Given the description of an element on the screen output the (x, y) to click on. 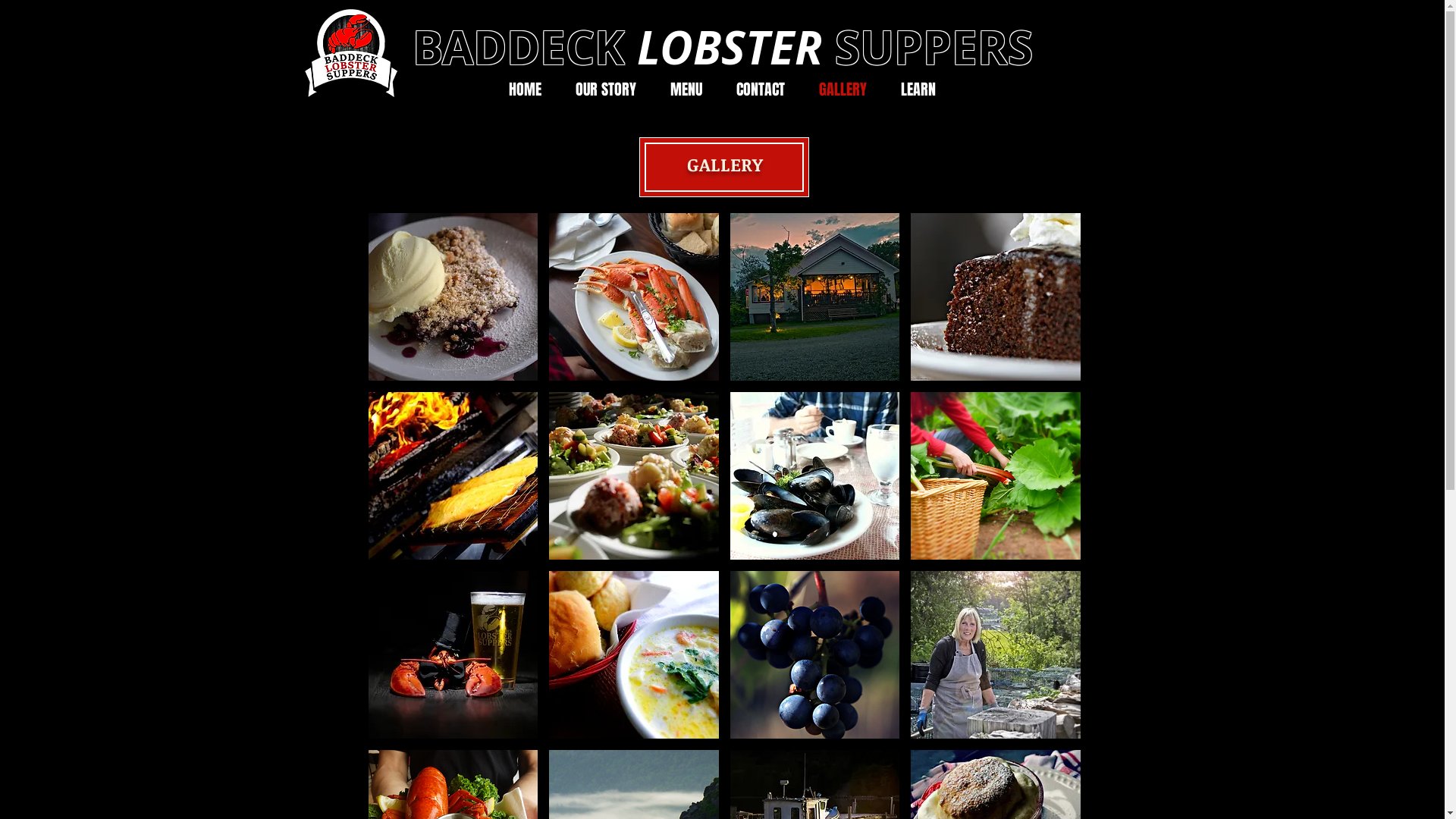
GALLERY Element type: text (843, 89)
CONTACT Element type: text (759, 89)
OUR STORY Element type: text (605, 89)
LEARN Element type: text (918, 89)
HOME Element type: text (524, 89)
MENU Element type: text (686, 89)
